Given the description of an element on the screen output the (x, y) to click on. 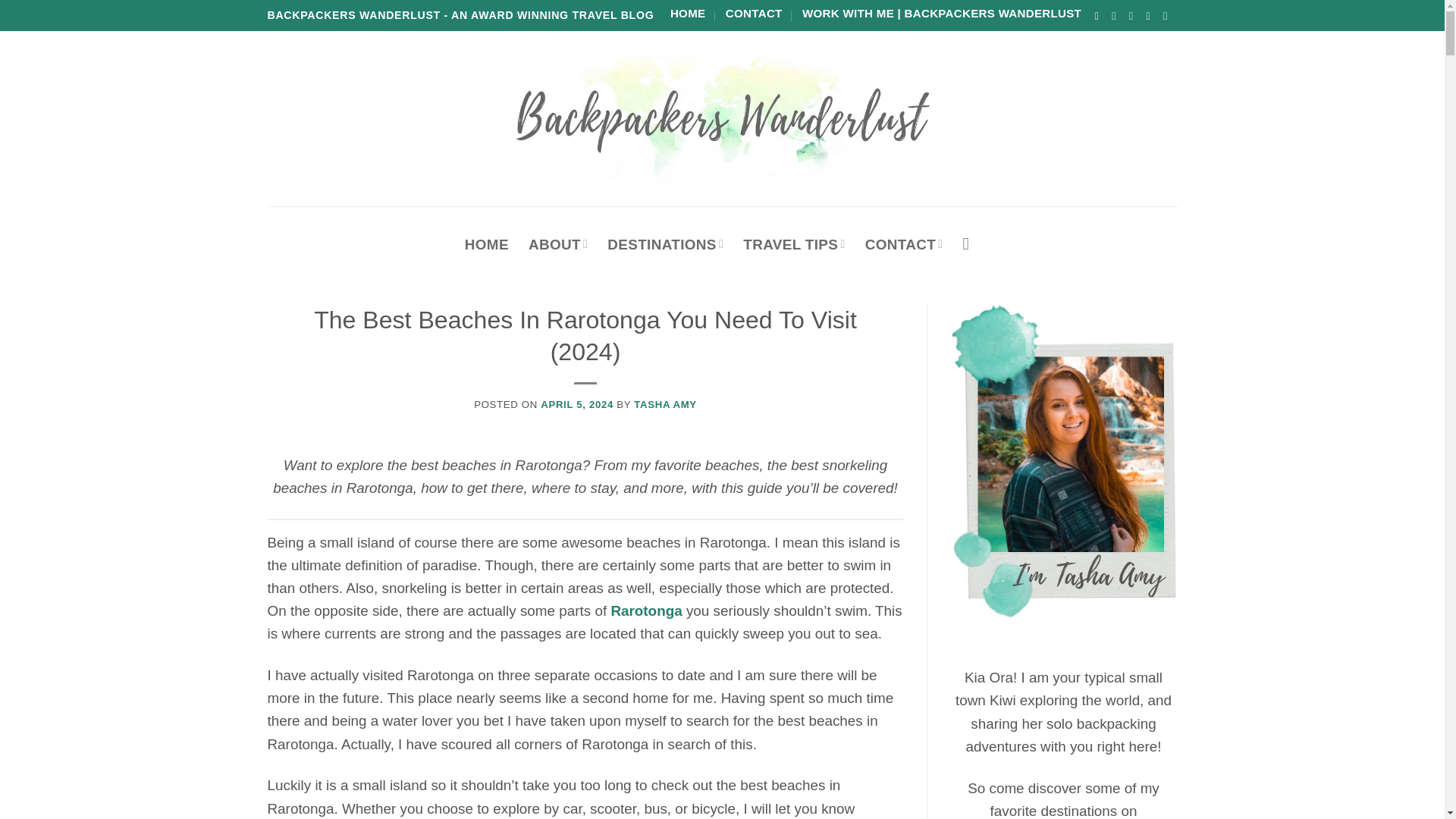
HOME (687, 13)
HOME (486, 244)
ABOUT (558, 243)
CONTACT (754, 13)
DESTINATIONS (665, 243)
